Given the description of an element on the screen output the (x, y) to click on. 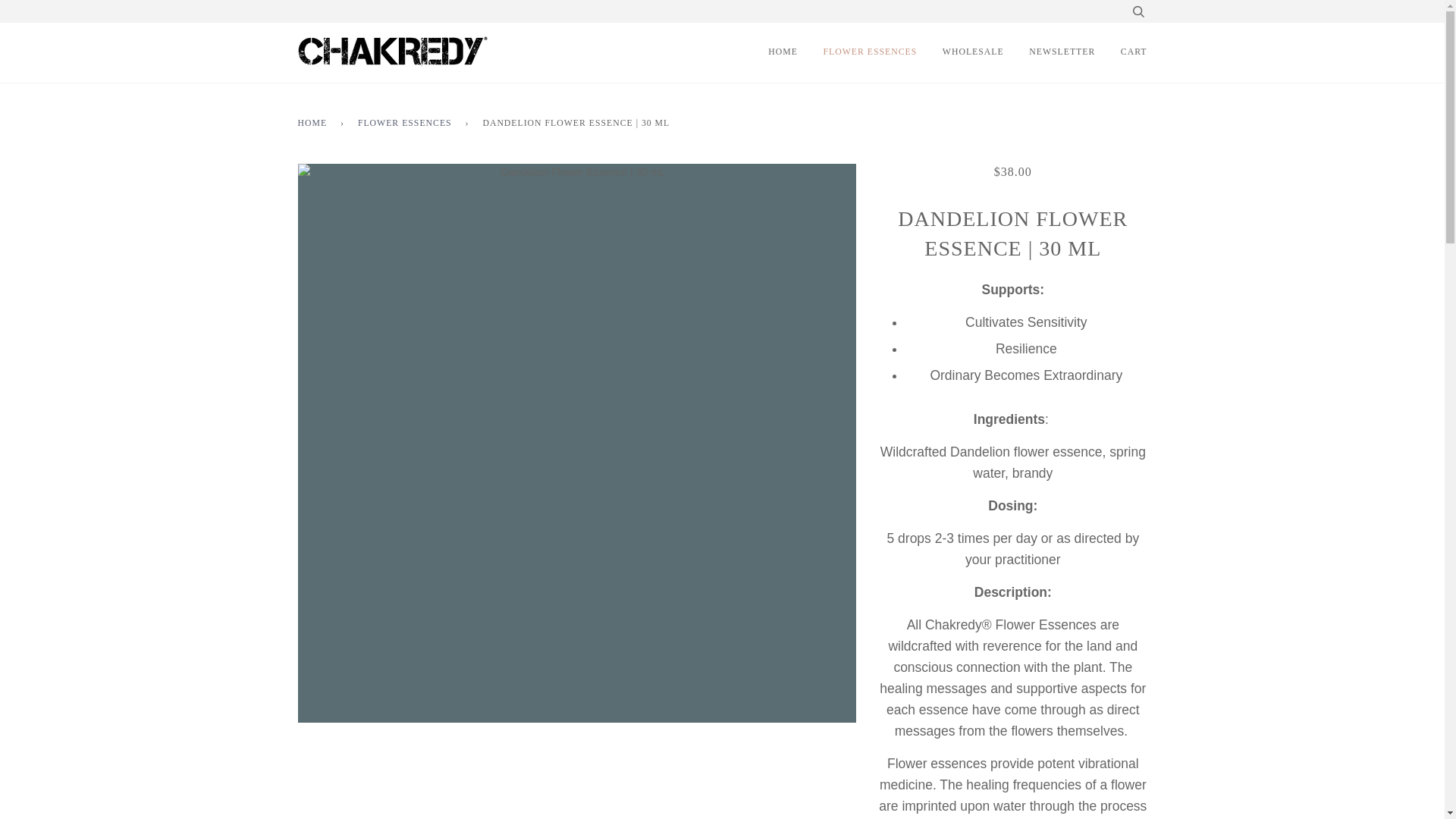
Back to the frontpage (314, 123)
FLOWER ESSENCES (870, 52)
WHOLESALE (973, 52)
HOME (314, 123)
NEWSLETTER (1061, 52)
FLOWER ESSENCES (407, 123)
